Given the description of an element on the screen output the (x, y) to click on. 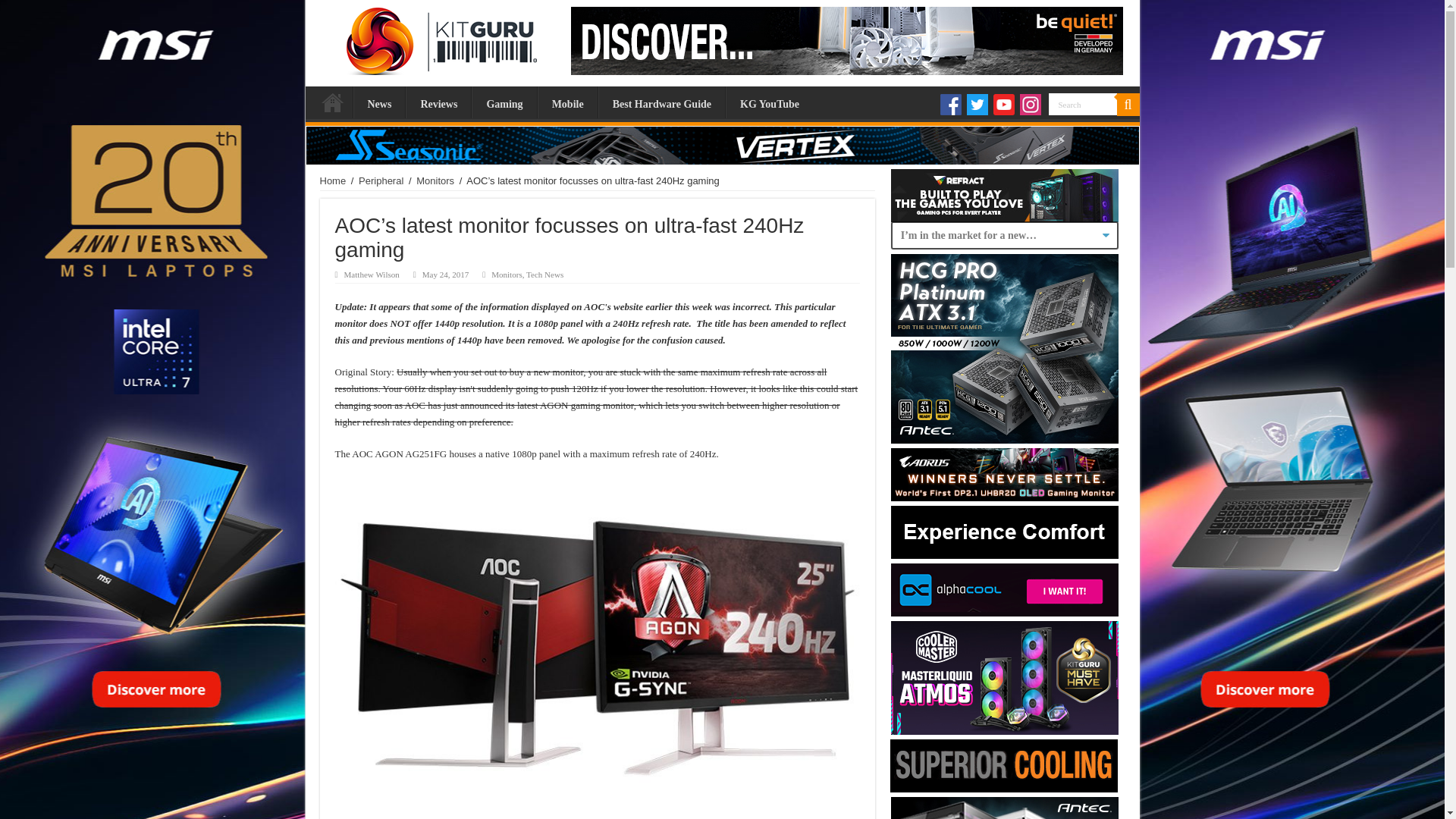
Search (1082, 104)
Matthew Wilson (370, 274)
Mobile (566, 101)
News (379, 101)
Peripheral (380, 180)
Instagram (1030, 104)
Gaming (503, 101)
Facebook (950, 104)
Reviews (438, 101)
Youtube (1003, 104)
